Given the description of an element on the screen output the (x, y) to click on. 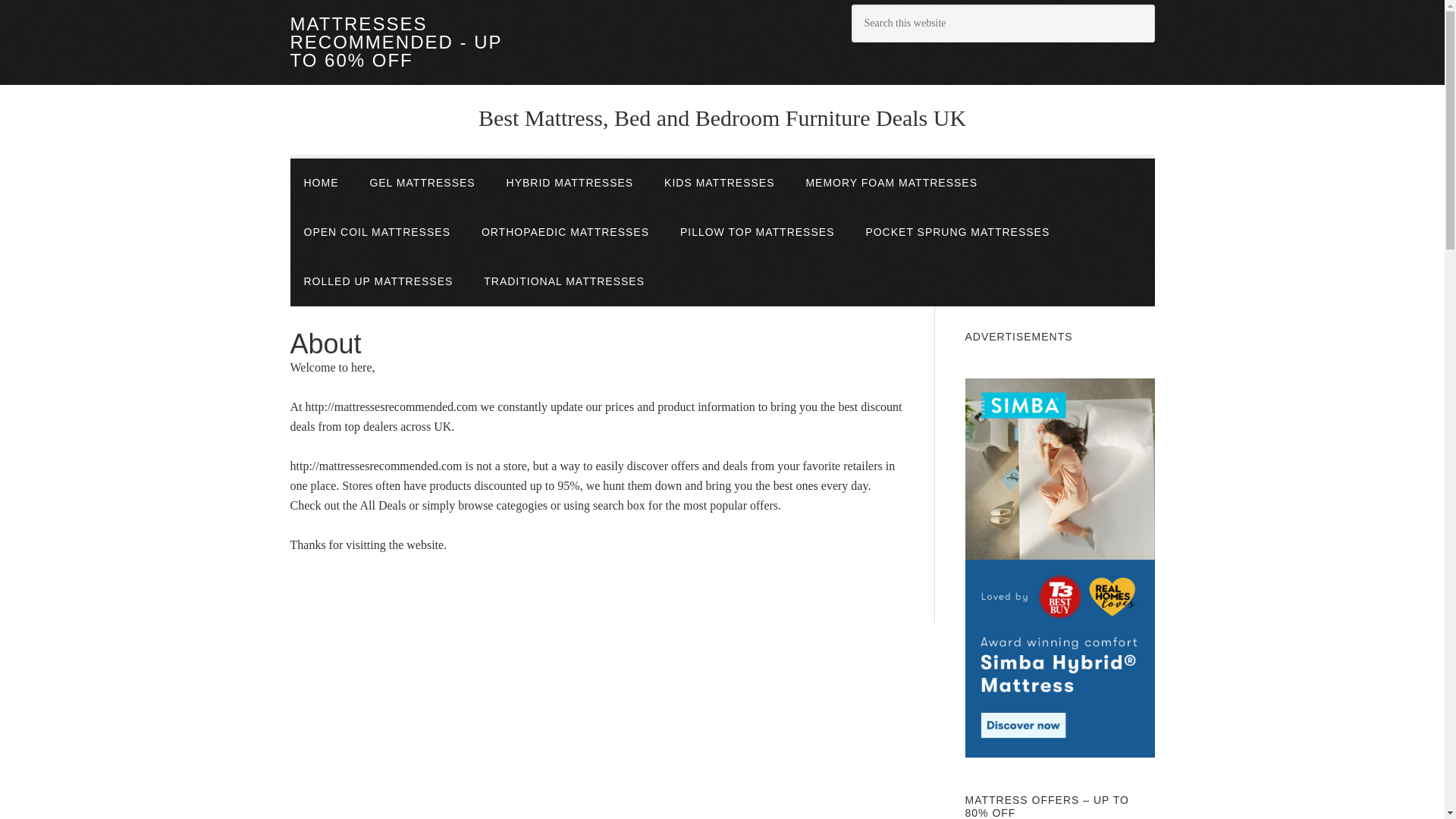
KIDS MATTRESSES (718, 183)
HOME (320, 183)
ORTHOPAEDIC MATTRESSES (564, 232)
ROLLED UP MATTRESSES (377, 281)
TRADITIONAL MATTRESSES (564, 281)
OPEN COIL MATTRESSES (376, 232)
PILLOW TOP MATTRESSES (757, 232)
